Given the description of an element on the screen output the (x, y) to click on. 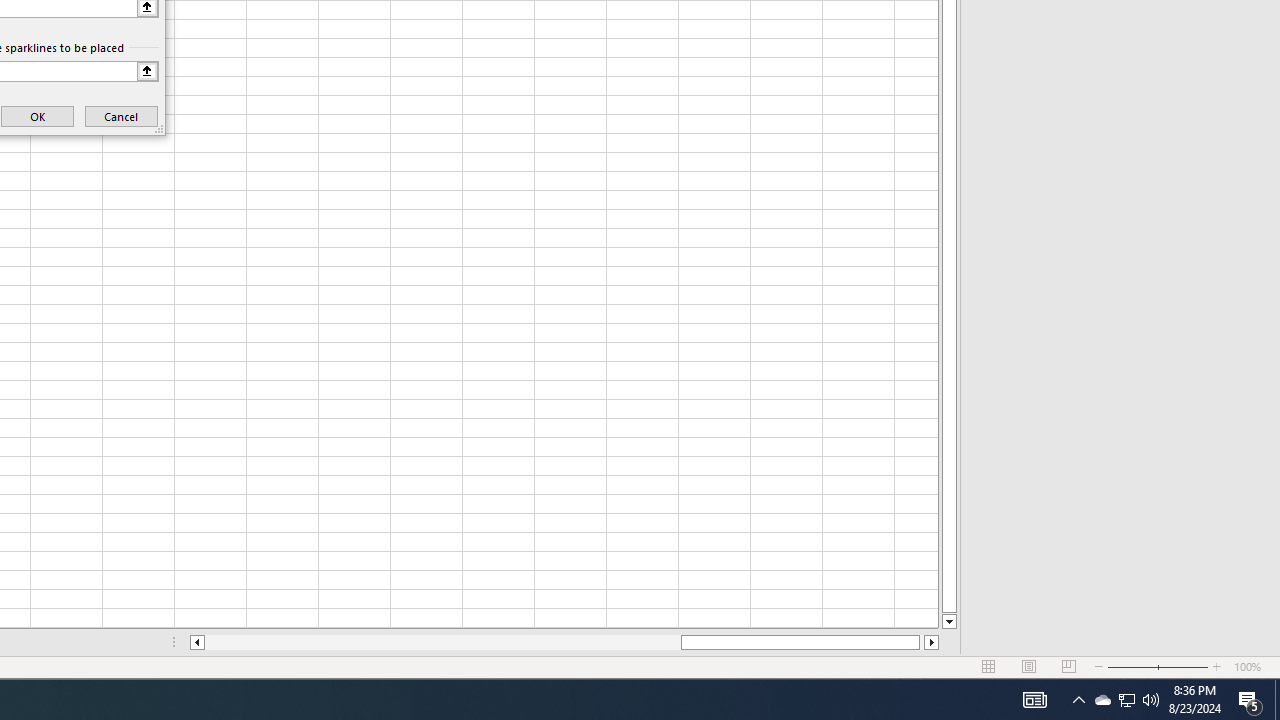
Page left (442, 642)
